Given the description of an element on the screen output the (x, y) to click on. 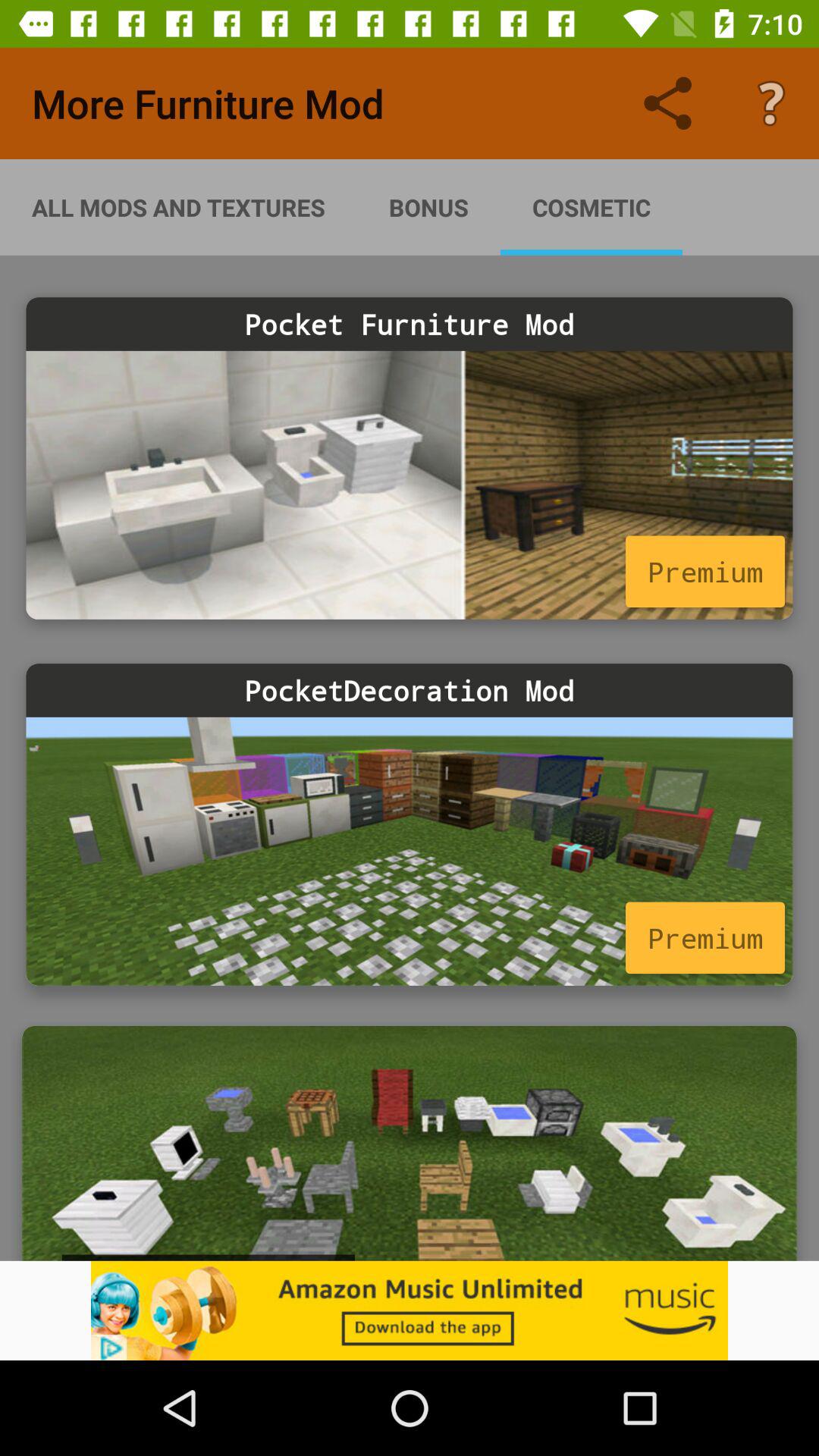
select third option (409, 1143)
